Given the description of an element on the screen output the (x, y) to click on. 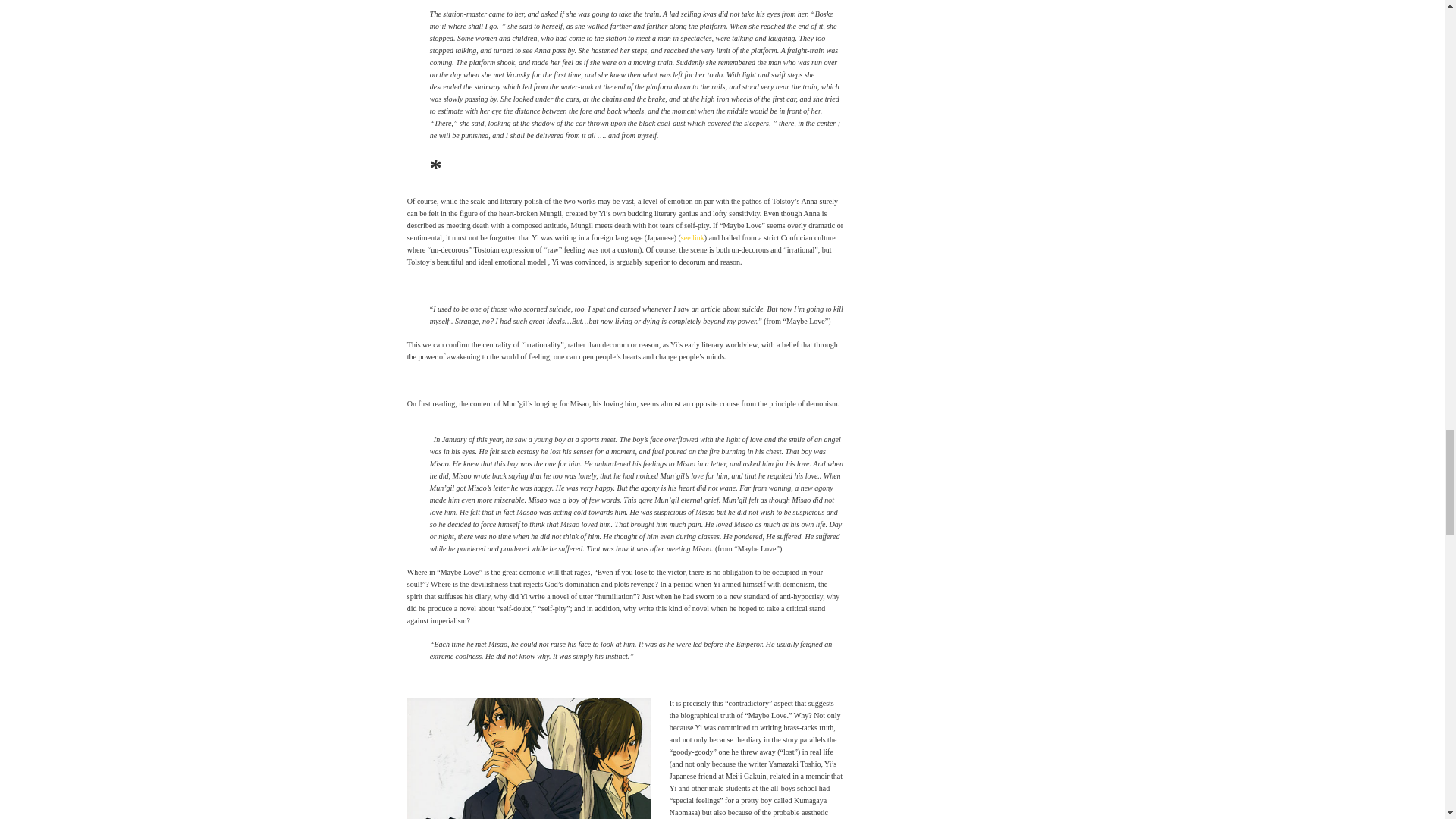
g (528, 758)
see link (692, 237)
